Given the description of an element on the screen output the (x, y) to click on. 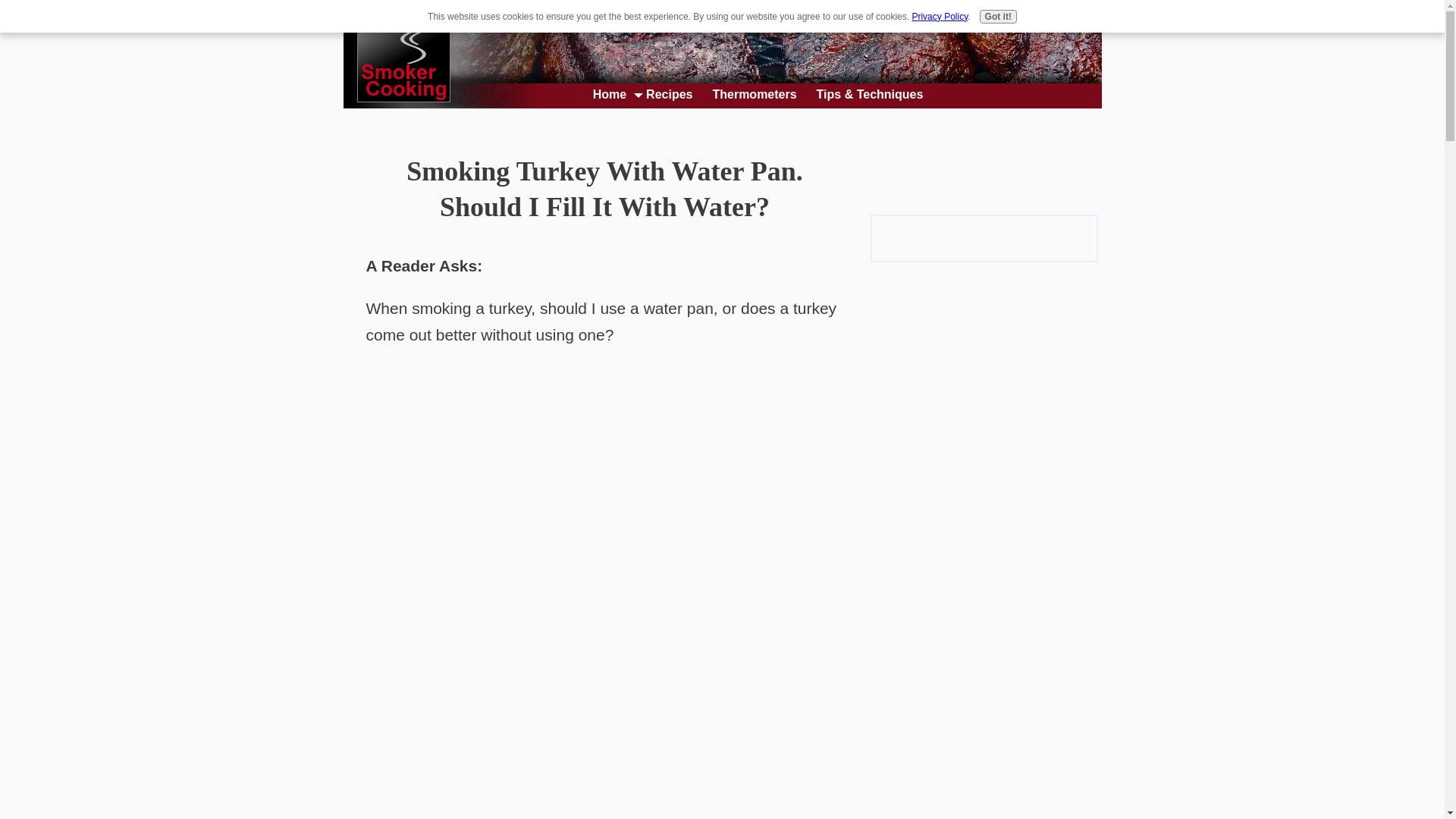
Got it! (997, 16)
Home (605, 94)
Privacy Policy (939, 16)
Thermometers (750, 94)
Don't Miss Out. Subscribe Today! (983, 238)
